Given the description of an element on the screen output the (x, y) to click on. 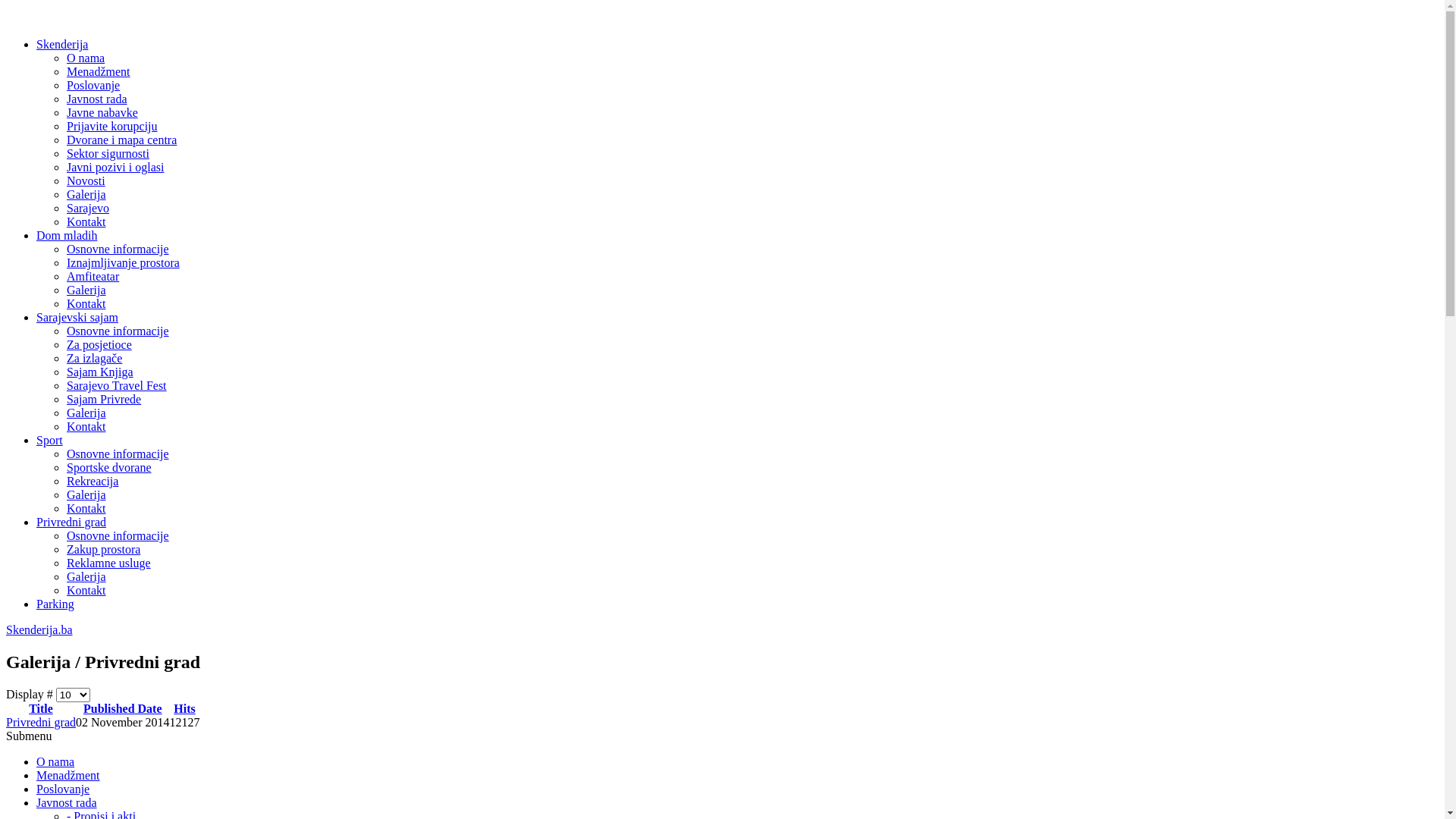
Skenderija.ba Element type: text (722, 630)
Javne nabavke Element type: text (102, 112)
Published Date Element type: text (122, 708)
Kontakt Element type: text (86, 589)
Kontakt Element type: text (86, 426)
Poslovanje Element type: text (62, 788)
O nama Element type: text (55, 761)
Sport Element type: text (49, 439)
Privredni grad Element type: text (40, 721)
Osnovne informacije Element type: text (117, 453)
Privredni grad Element type: text (71, 521)
Javnost rada Element type: text (96, 98)
Osnovne informacije Element type: text (117, 330)
Sajam Privrede Element type: text (103, 398)
Javnost rada Element type: text (66, 802)
Galerija Element type: text (86, 494)
Sarajevski sajam Element type: text (77, 316)
Dom mladih Element type: text (66, 235)
Galerija Element type: text (86, 412)
Osnovne informacije Element type: text (117, 535)
Sarajevo Element type: text (87, 207)
Za posjetioce Element type: text (98, 344)
Kontakt Element type: text (86, 508)
Amfiteatar Element type: text (92, 275)
Parking Element type: text (55, 603)
Dvorane i mapa centra Element type: text (121, 139)
O nama Element type: text (85, 57)
Kontakt Element type: text (86, 303)
Sarajevo Travel Fest Element type: text (116, 385)
Reklamne usluge Element type: text (108, 562)
Zakup prostora Element type: text (103, 548)
Kontakt Element type: text (86, 221)
Novosti Element type: text (85, 180)
Sportske dvorane Element type: text (108, 467)
Iznajmljivanje prostora Element type: text (122, 262)
Hits Element type: text (183, 708)
Javni pozivi i oglasi Element type: text (114, 166)
Rekreacija Element type: text (92, 480)
Title Element type: text (40, 708)
Poslovanje Element type: text (92, 84)
Sajam Knjiga Element type: text (99, 371)
Sektor sigurnosti Element type: text (107, 153)
Prijavite korupciju Element type: text (111, 125)
Galerija Element type: text (86, 576)
Galerija Element type: text (86, 289)
Galerija Element type: text (86, 194)
Osnovne informacije Element type: text (117, 248)
Skenderija Element type: text (61, 43)
